Given the description of an element on the screen output the (x, y) to click on. 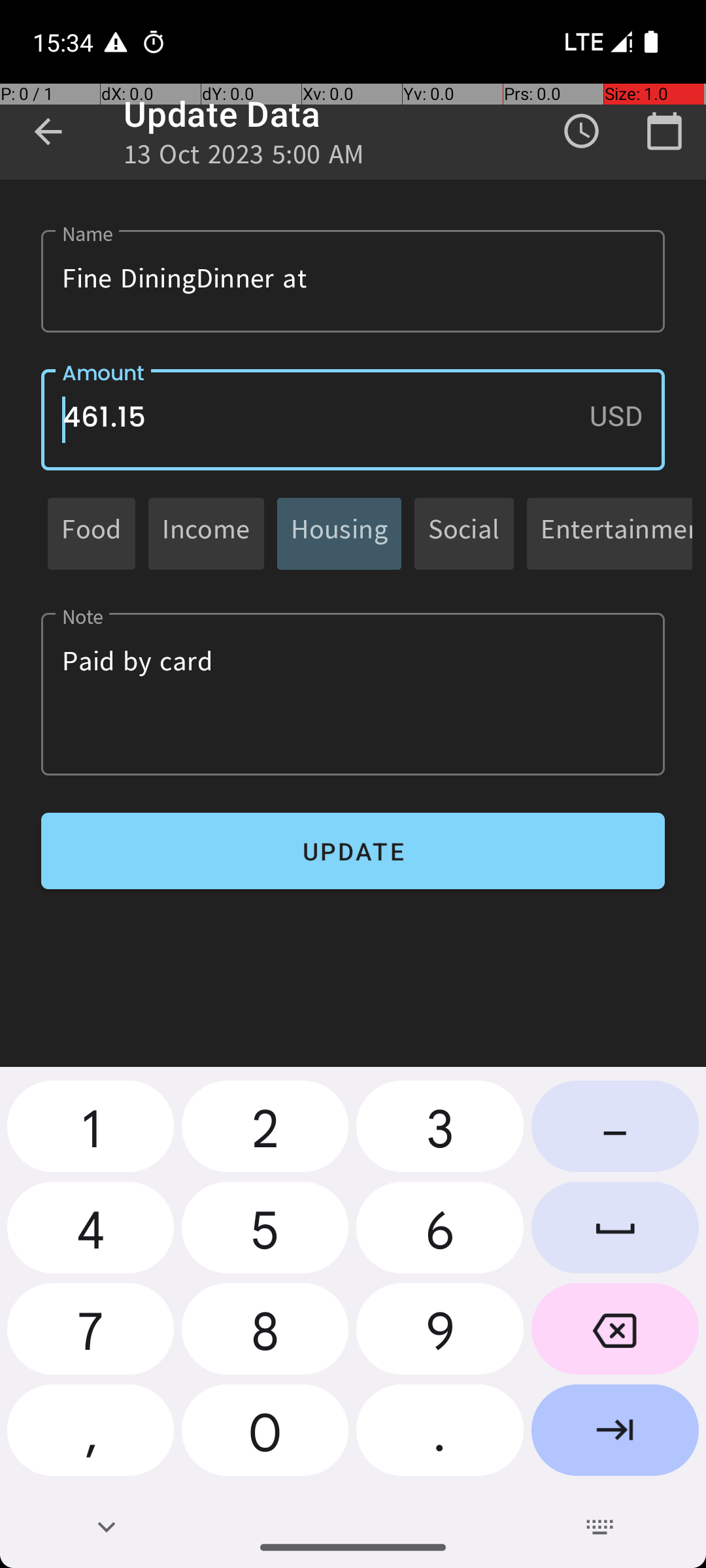
13 Oct 2023 5:00 AM Element type: android.widget.TextView (243, 157)
Fine DiningDinner at Element type: android.widget.EditText (352, 280)
461.15 Element type: android.widget.EditText (352, 419)
Paid by card Element type: android.widget.EditText (352, 693)
Dash Element type: android.widget.FrameLayout (614, 1130)
